Given the description of an element on the screen output the (x, y) to click on. 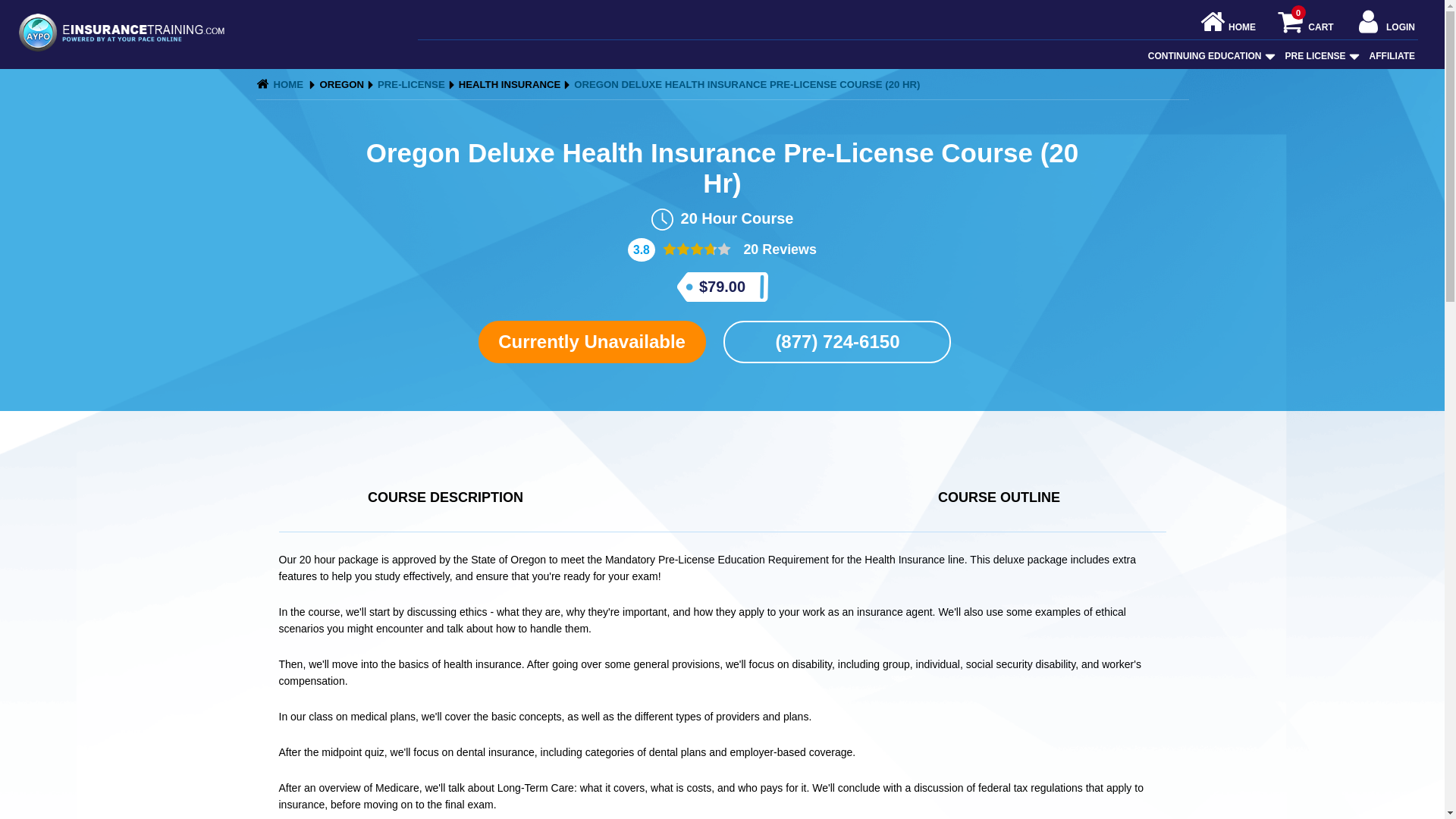
HOME (1227, 27)
CONTINUING EDUCATION (1204, 55)
LOGIN (1384, 27)
